Given the description of an element on the screen output the (x, y) to click on. 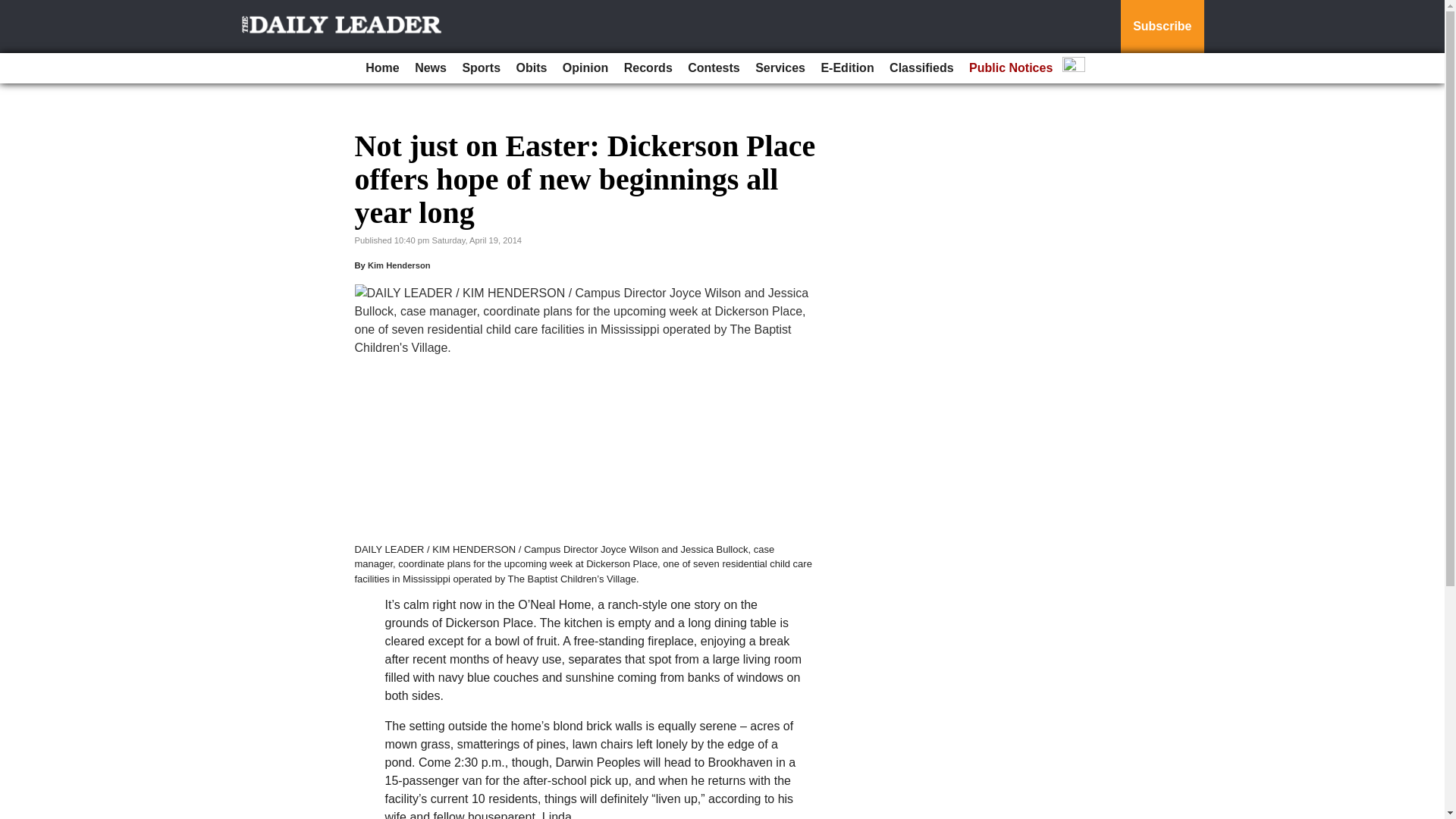
Home (381, 68)
News (430, 68)
Opinion (585, 68)
Classifieds (921, 68)
Public Notices (1010, 68)
Contests (713, 68)
Records (647, 68)
Services (779, 68)
Subscribe (1162, 26)
Kim Henderson (399, 265)
